Given the description of an element on the screen output the (x, y) to click on. 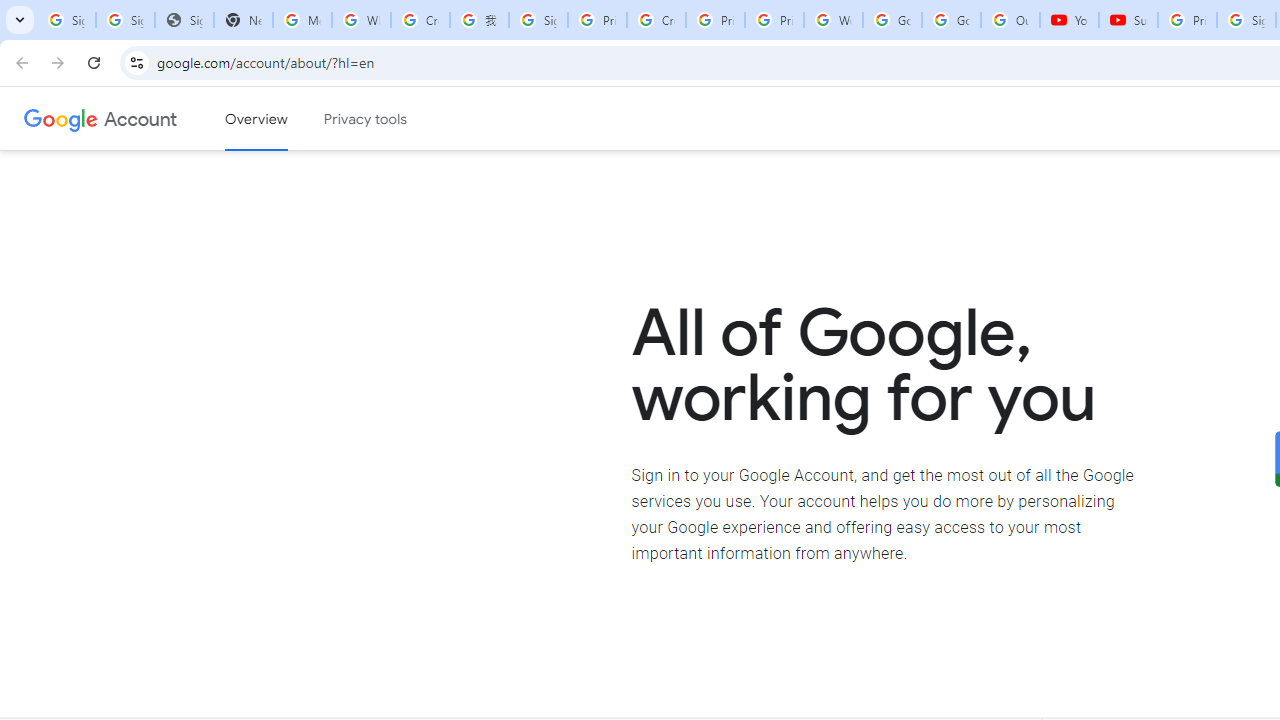
Welcome to My Activity (832, 20)
Create your Google Account (656, 20)
Sign in - Google Accounts (125, 20)
YouTube (1069, 20)
New Tab (242, 20)
Privacy tools (365, 119)
Google Account overview (256, 119)
Google logo (61, 118)
Create your Google Account (420, 20)
Who is my administrator? - Google Account Help (360, 20)
